Given the description of an element on the screen output the (x, y) to click on. 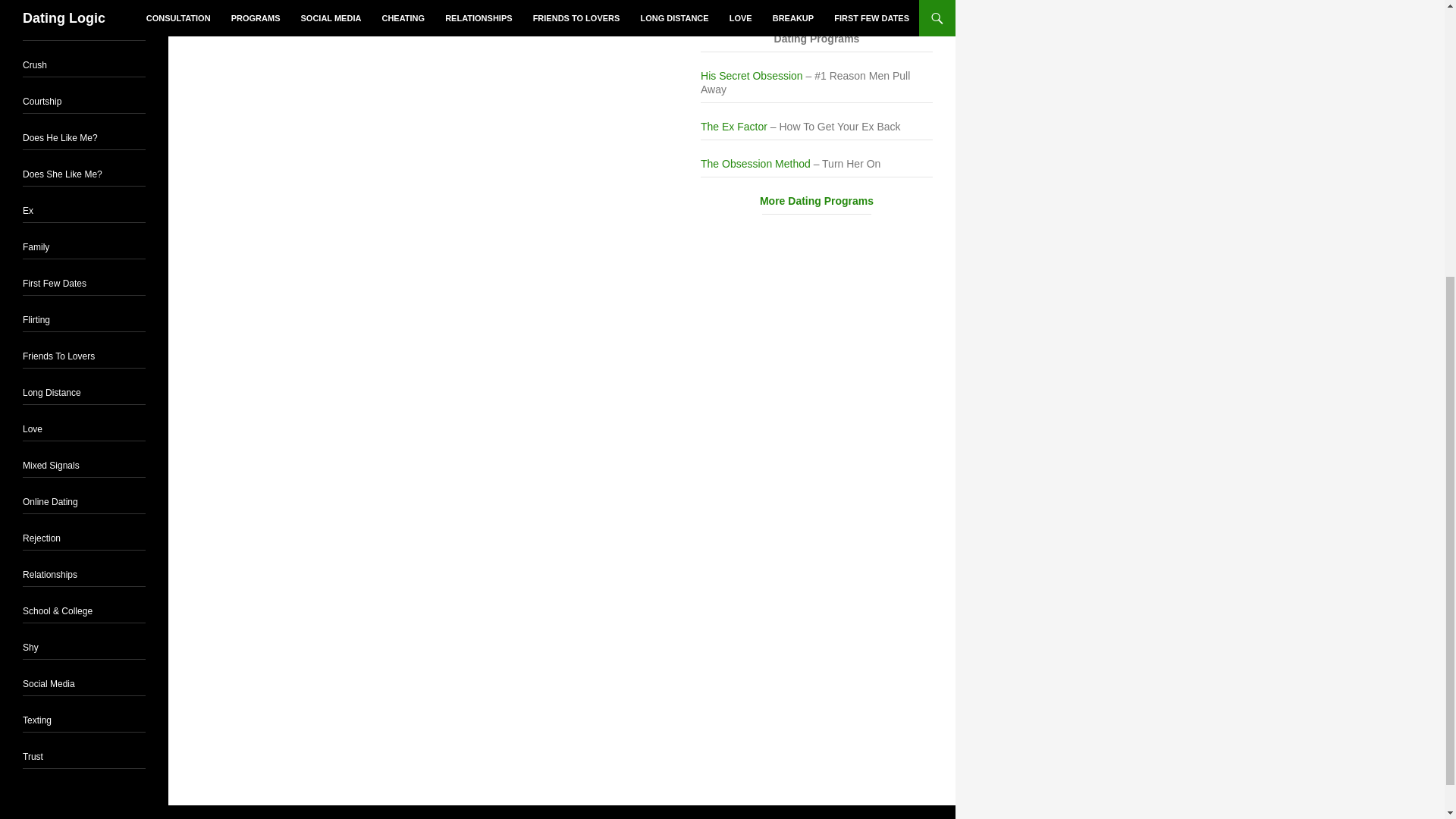
Courtship (42, 101)
Crush (34, 64)
Cheating (41, 28)
More Dating Programs (816, 201)
First Few Dates (54, 283)
Does He Like Me? (60, 137)
The Obsession Method (755, 163)
Ex (28, 210)
Family (36, 246)
The Ex Factor (733, 126)
